Given the description of an element on the screen output the (x, y) to click on. 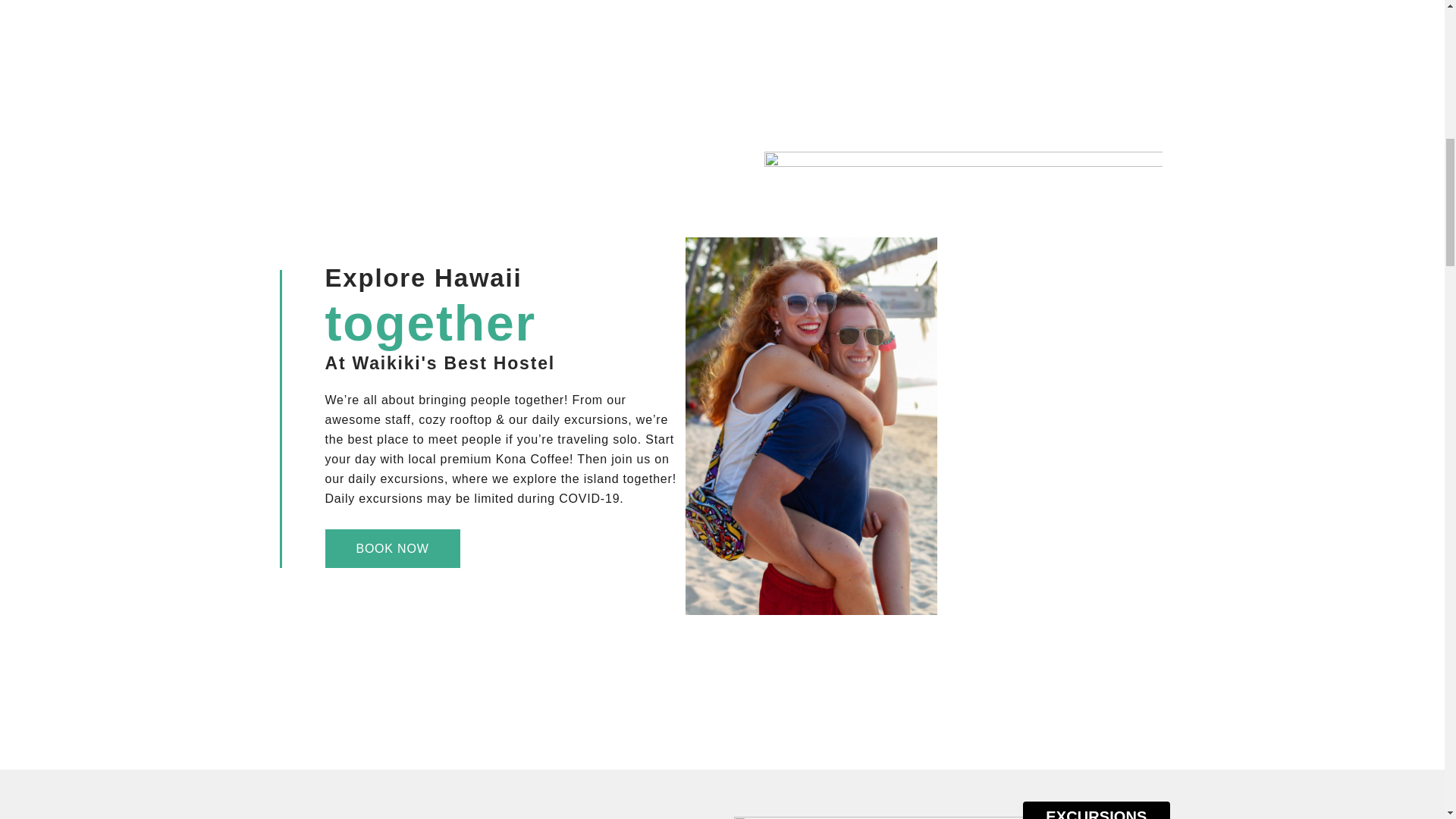
BOOK NOW (392, 548)
EXCURSIONS (1096, 810)
